Given the description of an element on the screen output the (x, y) to click on. 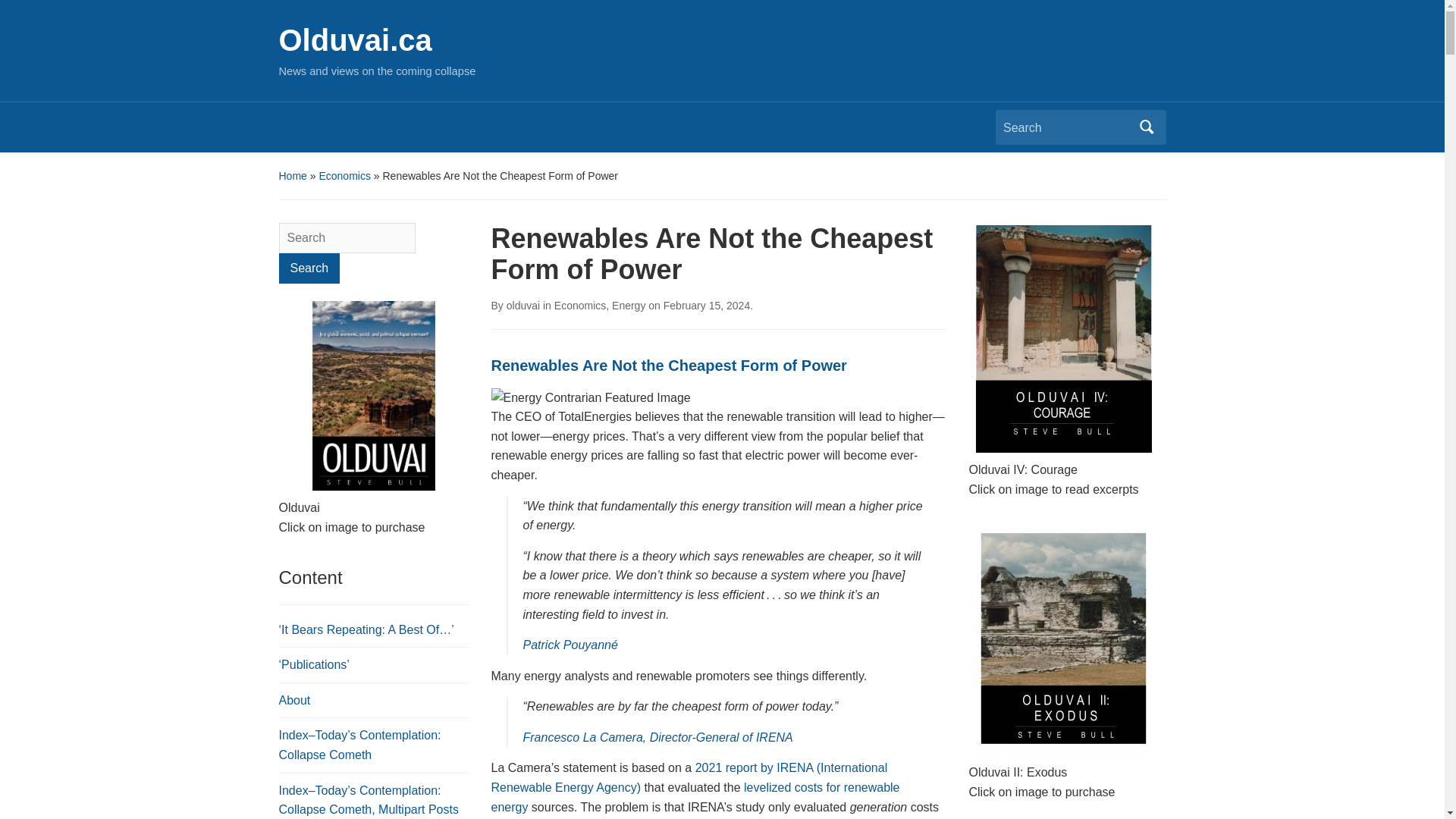
Home (293, 175)
View all posts by olduvai (523, 305)
About (295, 699)
Olduvai.ca - News and views on the coming collapse (355, 39)
Search (309, 268)
Economics (343, 175)
Energy Contrarian Featured Image (591, 397)
Olduvai.ca (355, 39)
9:33 am (706, 305)
